Given the description of an element on the screen output the (x, y) to click on. 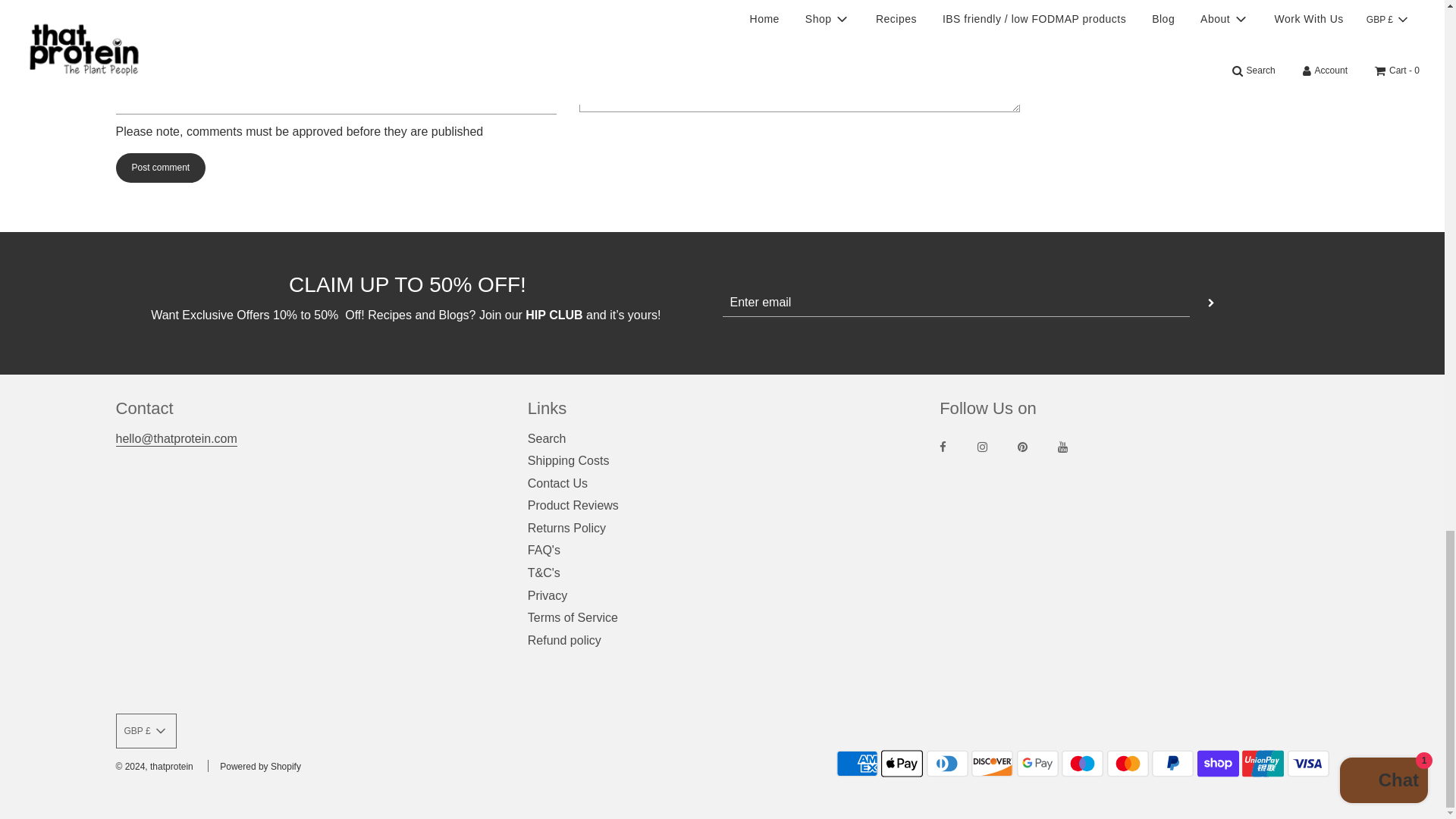
Maestro (1082, 763)
Mastercard (1127, 763)
Shop Pay (1217, 763)
American Express (856, 763)
Union Pay (1262, 763)
Discover (992, 763)
Apple Pay (901, 763)
Visa (1308, 763)
Post comment (160, 167)
PayPal (1172, 763)
Google Pay (1037, 763)
Diners Club (947, 763)
